Given the description of an element on the screen output the (x, y) to click on. 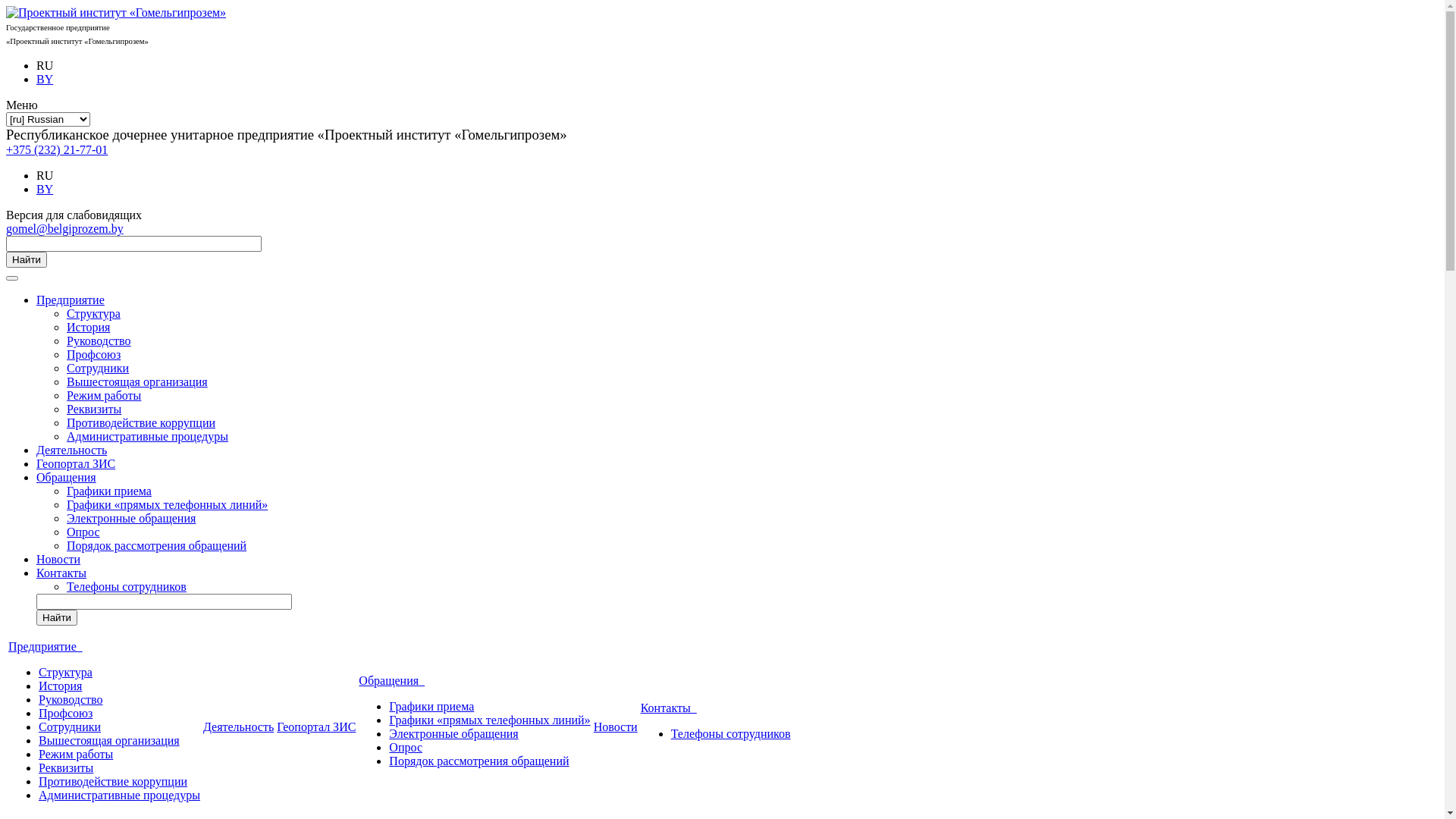
+375 (232) 21-77-01 Element type: text (56, 149)
BY Element type: text (44, 188)
gomel@belgiprozem.by Element type: text (64, 228)
BY Element type: text (44, 78)
